Given the description of an element on the screen output the (x, y) to click on. 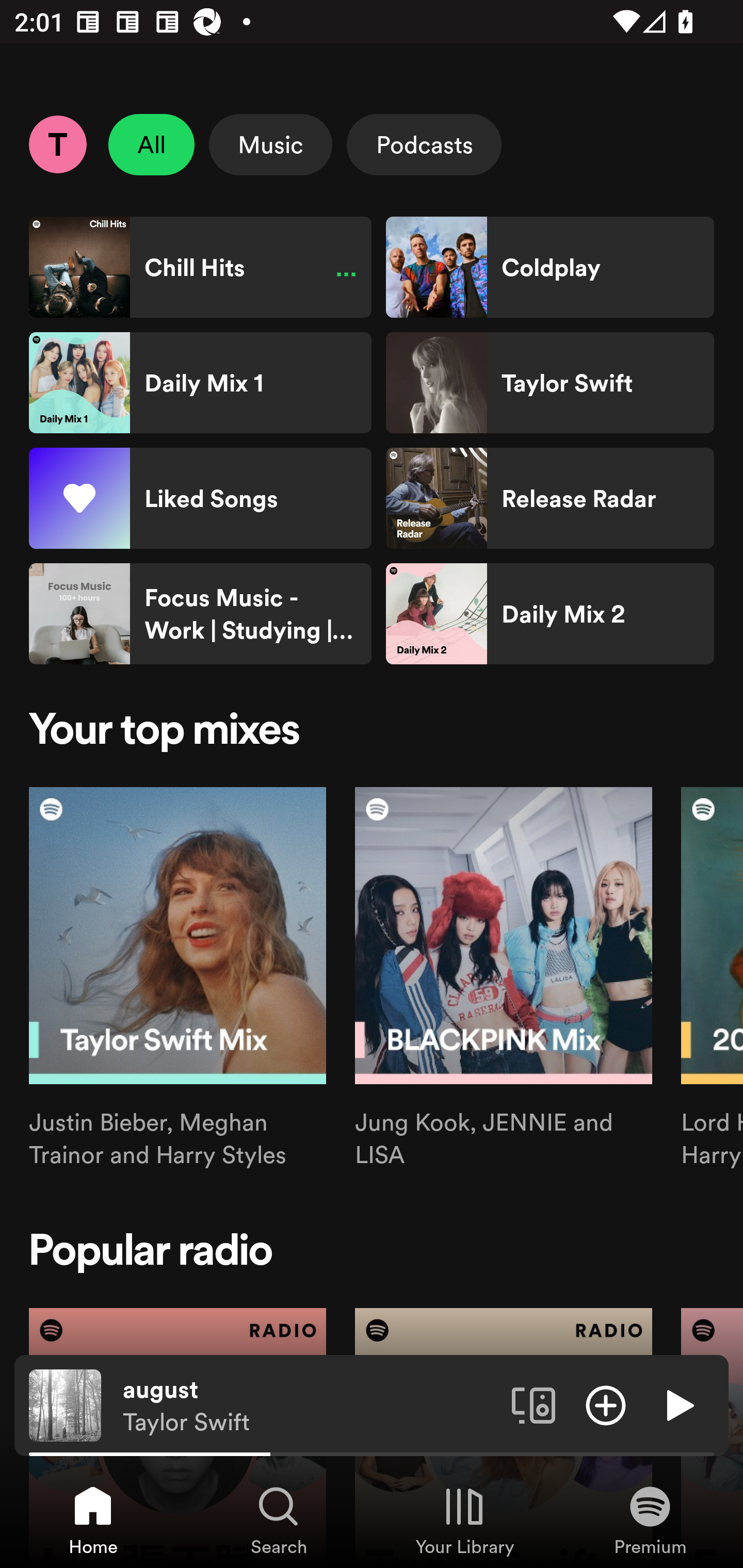
Profile (57, 144)
All Unselect All (151, 144)
Music Select Music (270, 144)
Podcasts Select Podcasts (423, 144)
Chill Hits Shortcut Chill Hits Paused (199, 267)
Coldplay Shortcut Coldplay (549, 267)
Daily Mix 1 Shortcut Daily Mix 1 (199, 382)
Taylor Swift Shortcut Taylor Swift (549, 382)
Liked Songs Shortcut Liked Songs (199, 498)
Release Radar Shortcut Release Radar (549, 498)
Daily Mix 2 Shortcut Daily Mix 2 (549, 613)
august Taylor Swift (309, 1405)
The cover art of the currently playing track (64, 1404)
Connect to a device. Opens the devices menu (533, 1404)
Add item (605, 1404)
Play (677, 1404)
Home, Tab 1 of 4 Home Home (92, 1519)
Search, Tab 2 of 4 Search Search (278, 1519)
Your Library, Tab 3 of 4 Your Library Your Library (464, 1519)
Premium, Tab 4 of 4 Premium Premium (650, 1519)
